Given the description of an element on the screen output the (x, y) to click on. 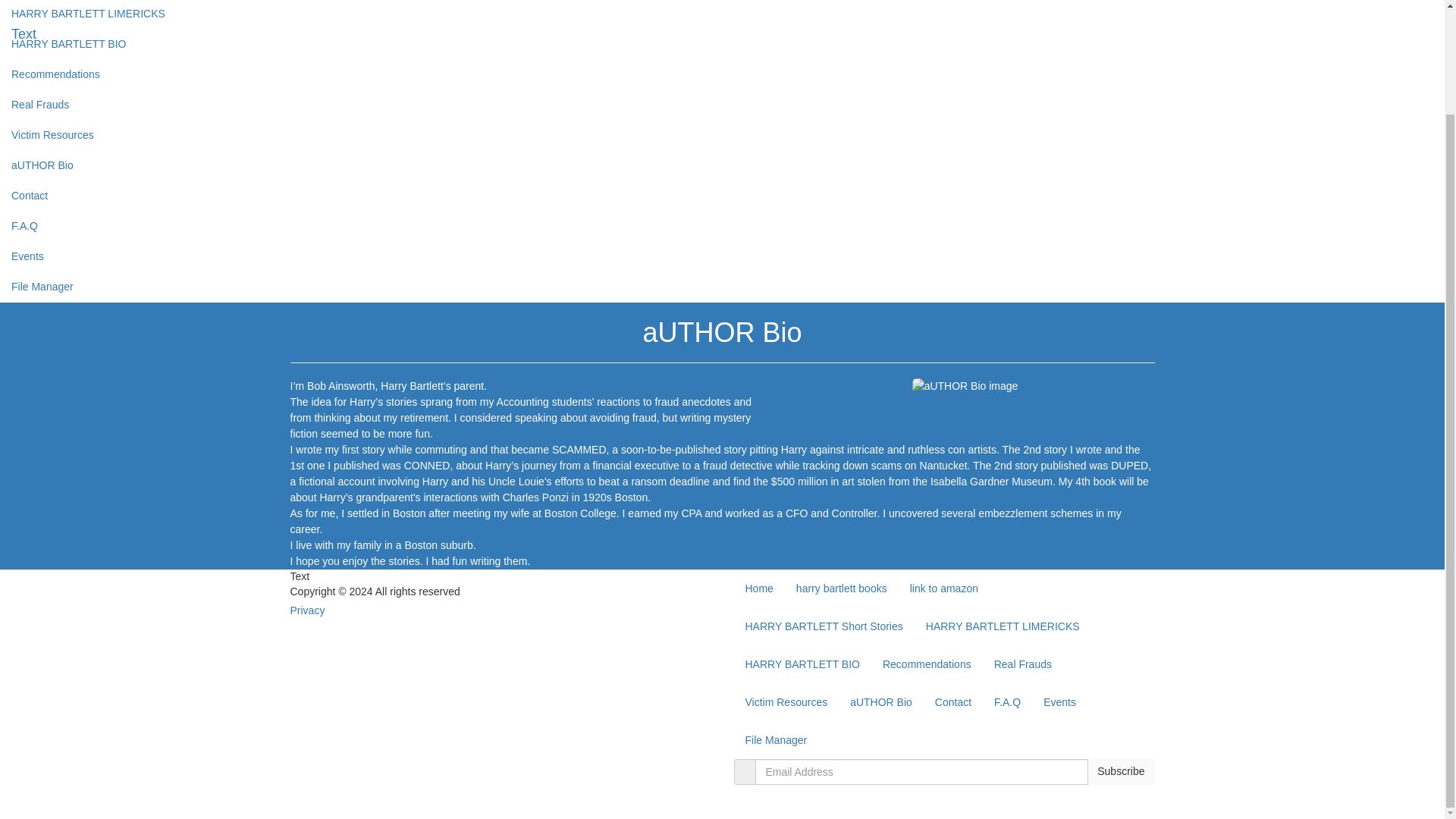
harry bartlett books (841, 588)
HARRY BARTLETT LIMERICKS (1002, 626)
Real Frauds (1022, 664)
HARRY BARTLETT Short Stories (823, 626)
Home (758, 588)
HARRY BARTLETT BIO (801, 664)
link to amazon  (945, 588)
Recommendations (926, 664)
Privacy (306, 610)
